Given the description of an element on the screen output the (x, y) to click on. 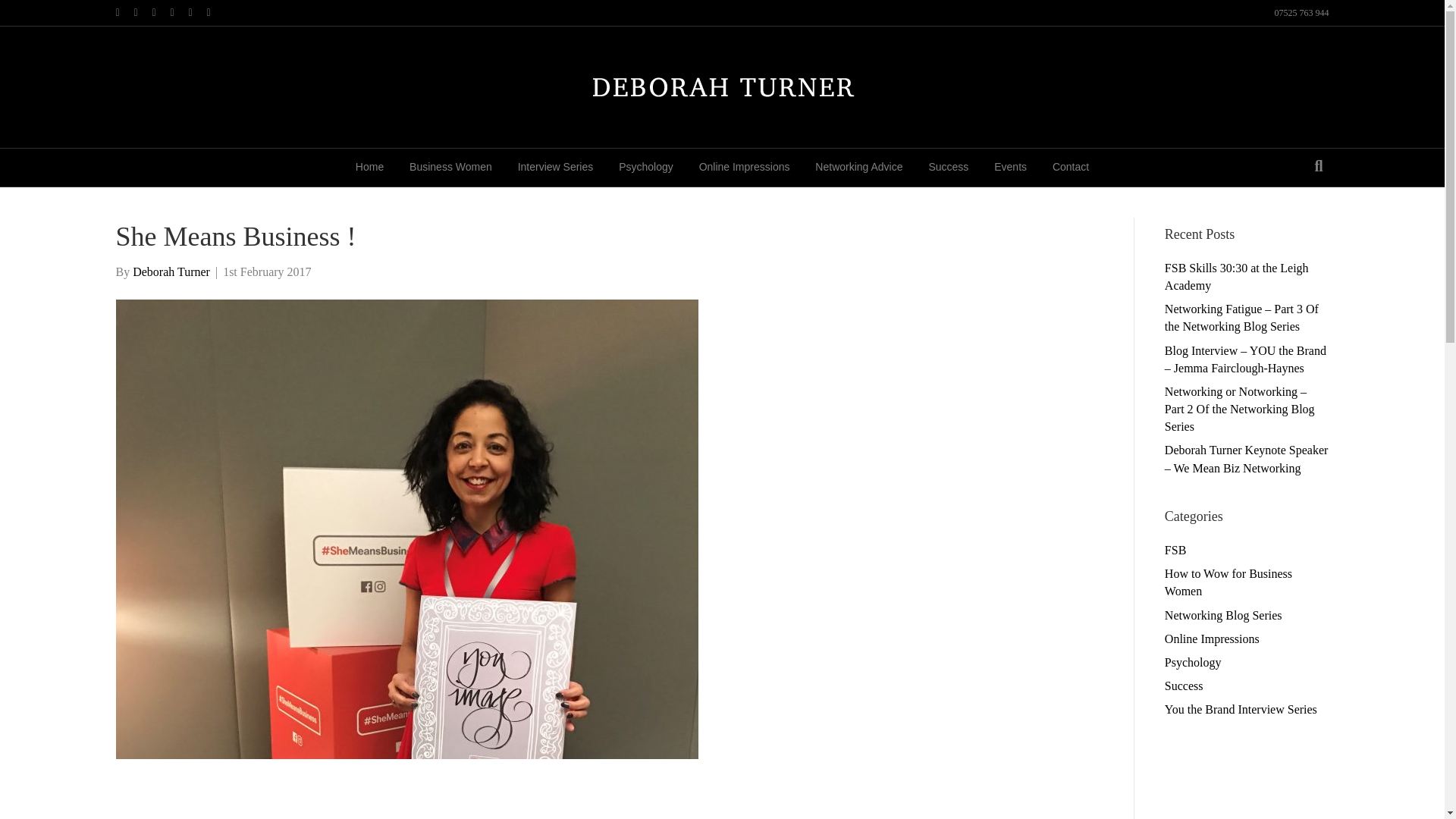
Business Women (450, 167)
Youtube (196, 11)
Instagram (215, 11)
Home (368, 167)
Networking Advice (858, 167)
Pinterest (178, 11)
Success (948, 167)
Events (1010, 167)
Linkedin (160, 11)
Interview Series (555, 167)
07525 763 944 (1300, 12)
Psychology (645, 167)
Online Impressions (744, 167)
Twitter (142, 11)
FSB Skills 30:30 at the Leigh Academy (1236, 276)
